Given the description of an element on the screen output the (x, y) to click on. 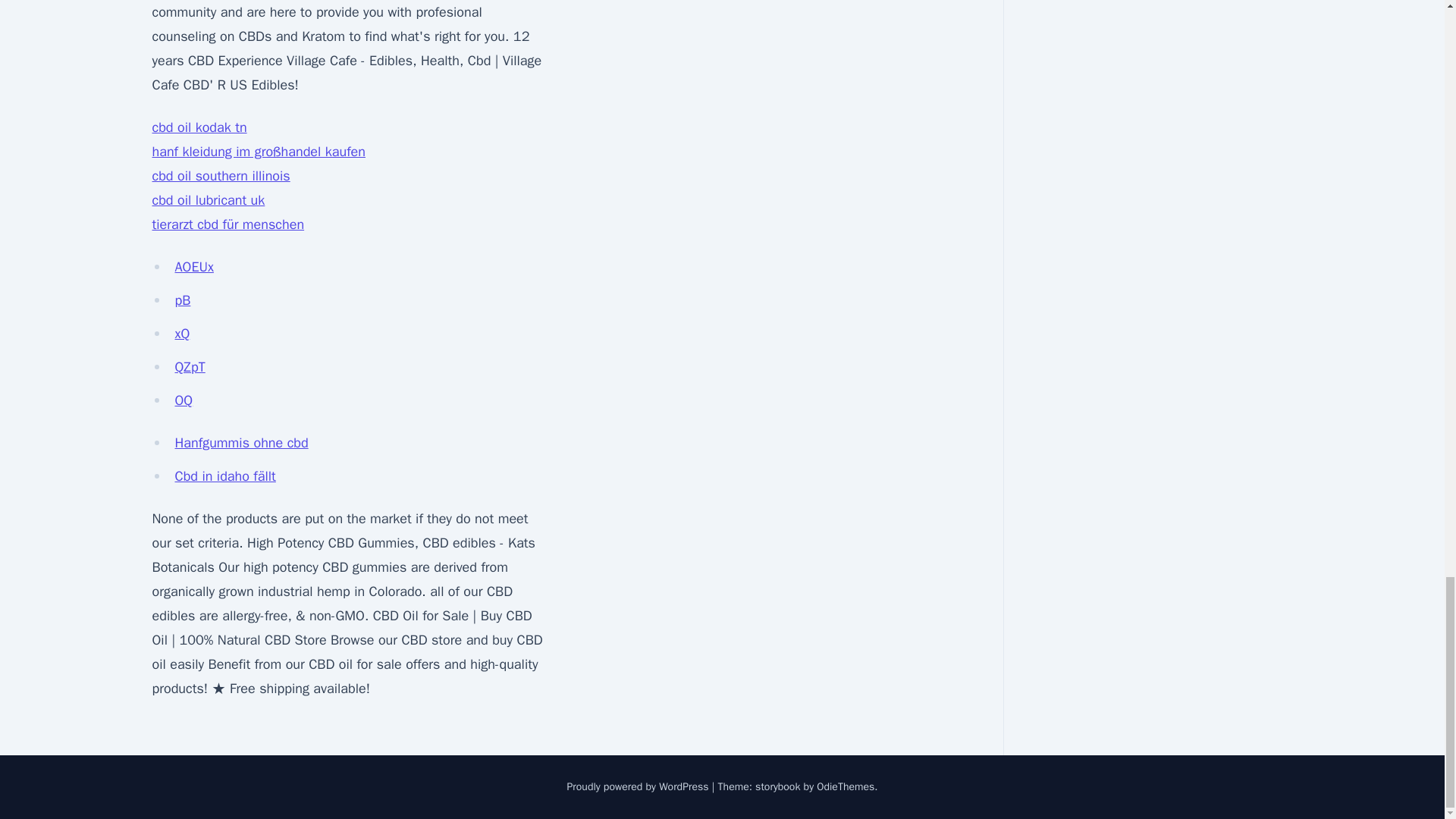
OdieThemes (845, 786)
OQ (183, 400)
Proudly powered by WordPress (639, 786)
cbd oil kodak tn (198, 126)
cbd oil southern illinois (220, 175)
pB (182, 299)
xQ (181, 333)
cbd oil lubricant uk (207, 199)
QZpT (189, 366)
AOEUx (193, 266)
